Given the description of an element on the screen output the (x, y) to click on. 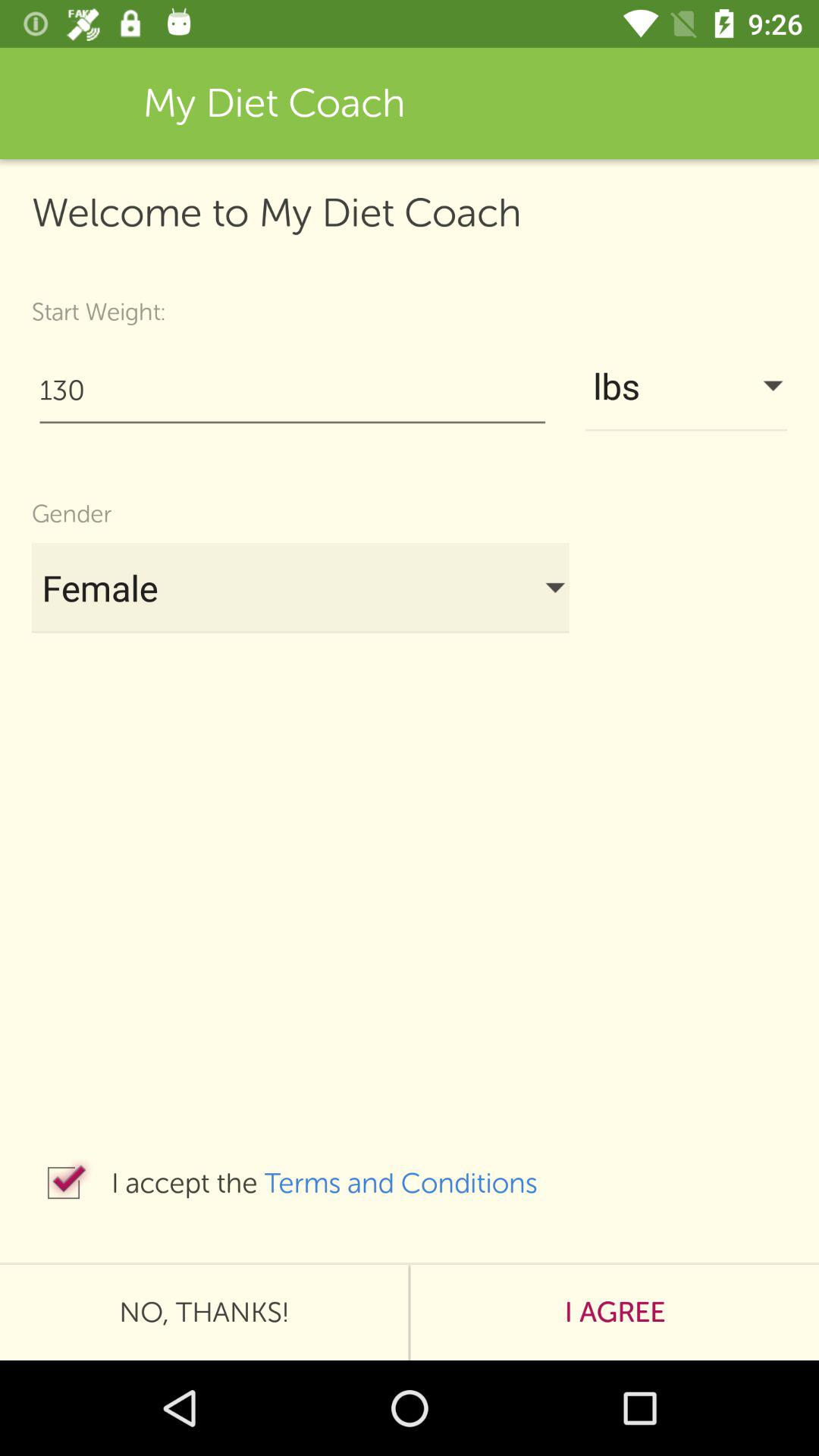
scroll until terms and conditions item (416, 1182)
